Given the description of an element on the screen output the (x, y) to click on. 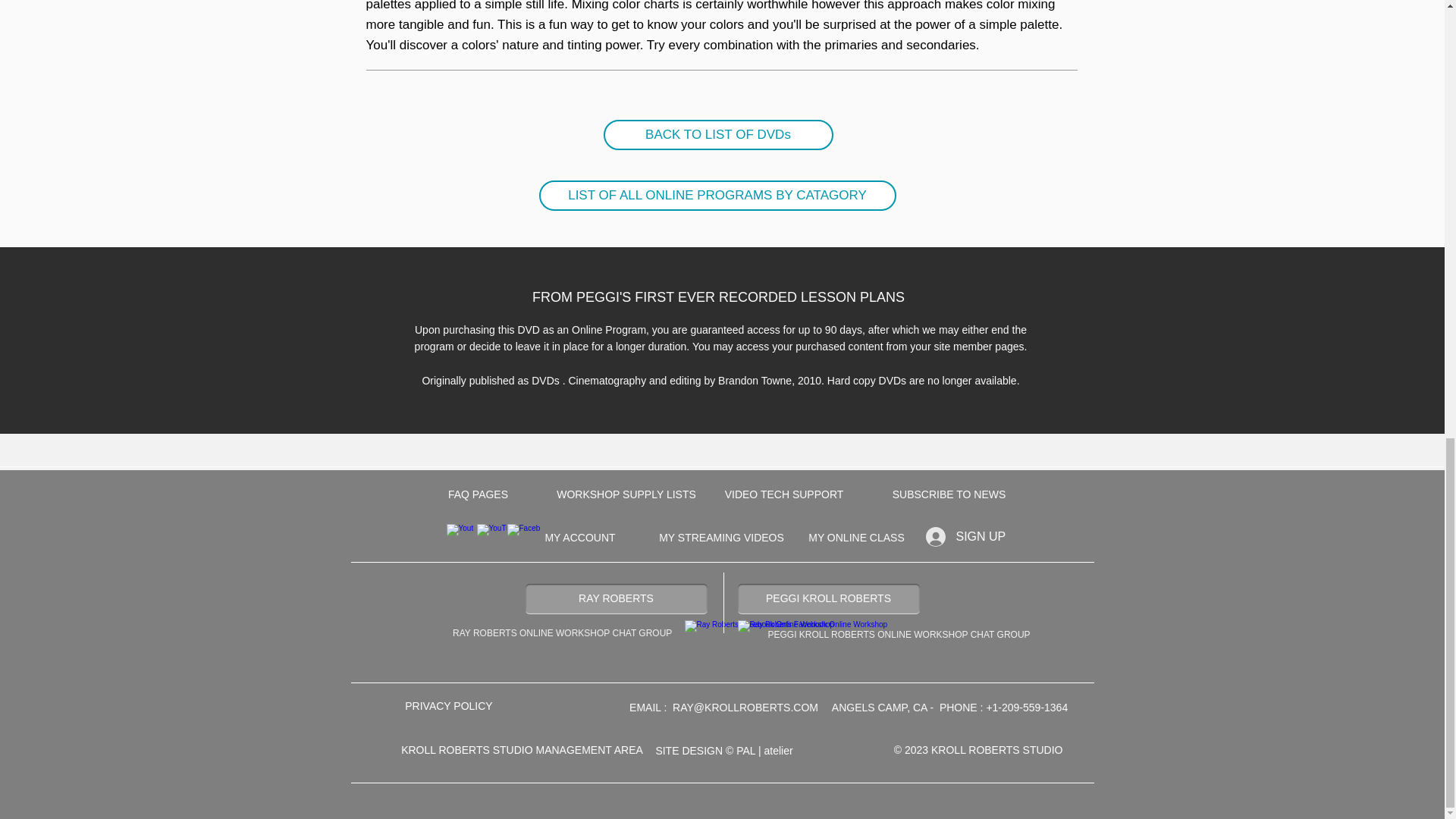
SUBSCRIBE TO NEWS (948, 494)
FAQ (1020, 511)
WORKSHOP SUPPLY LISTS (625, 494)
BACK TO LIST OF DVDs (718, 134)
RAY ROBERTS (615, 598)
LIST OF ALL ONLINE PROGRAMS BY CATAGORY (716, 195)
MY STREAMING VIDEOS (721, 538)
FAQ PAGES (478, 494)
SHOP (598, 511)
MY ONLINE CLASS (855, 538)
